Given the description of an element on the screen output the (x, y) to click on. 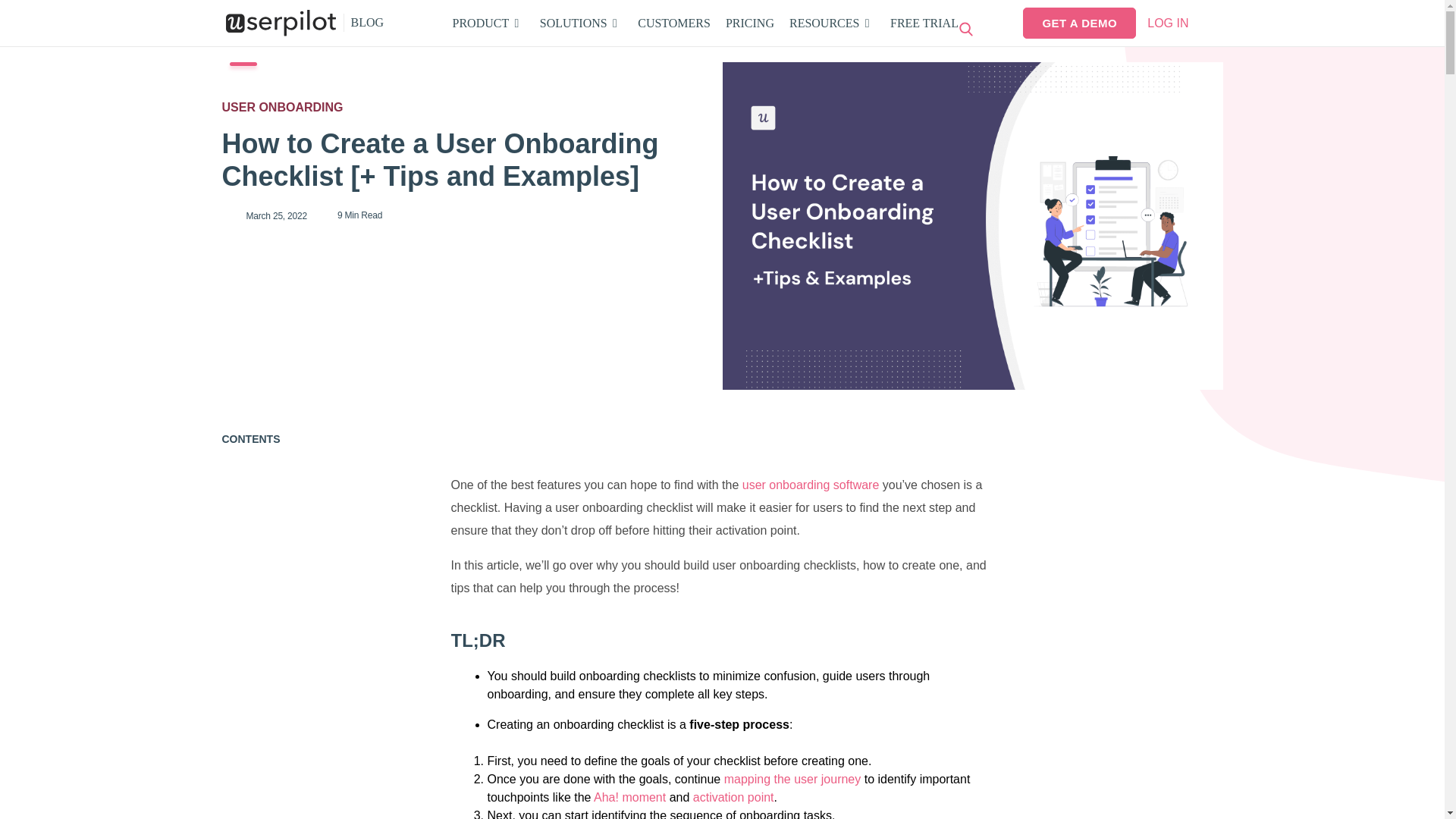
PRICING (749, 22)
FREE TRIAL (924, 22)
CUSTOMERS (705, 22)
BLOG (673, 22)
